Given the description of an element on the screen output the (x, y) to click on. 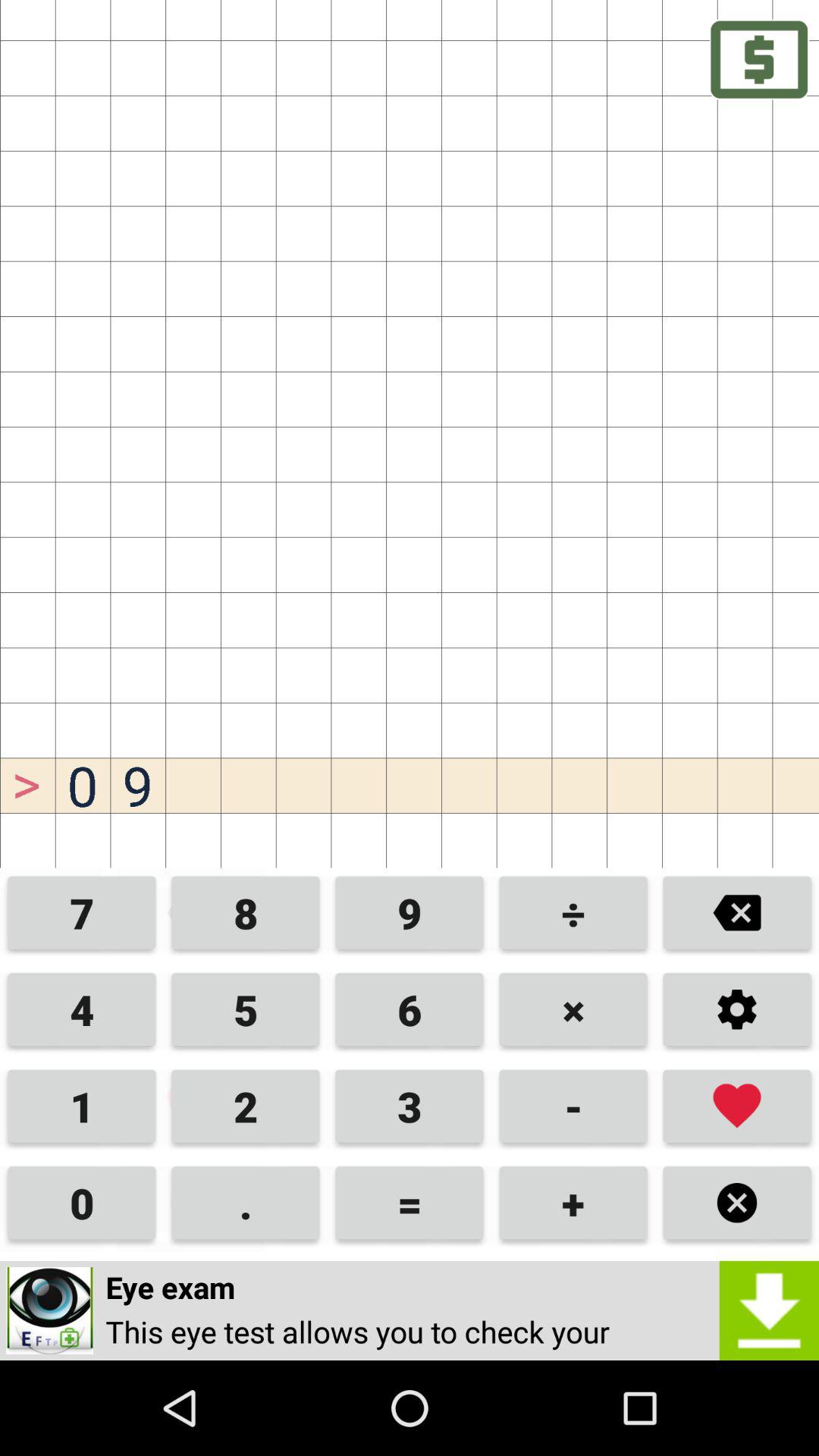
delete previous number (737, 914)
